Given the description of an element on the screen output the (x, y) to click on. 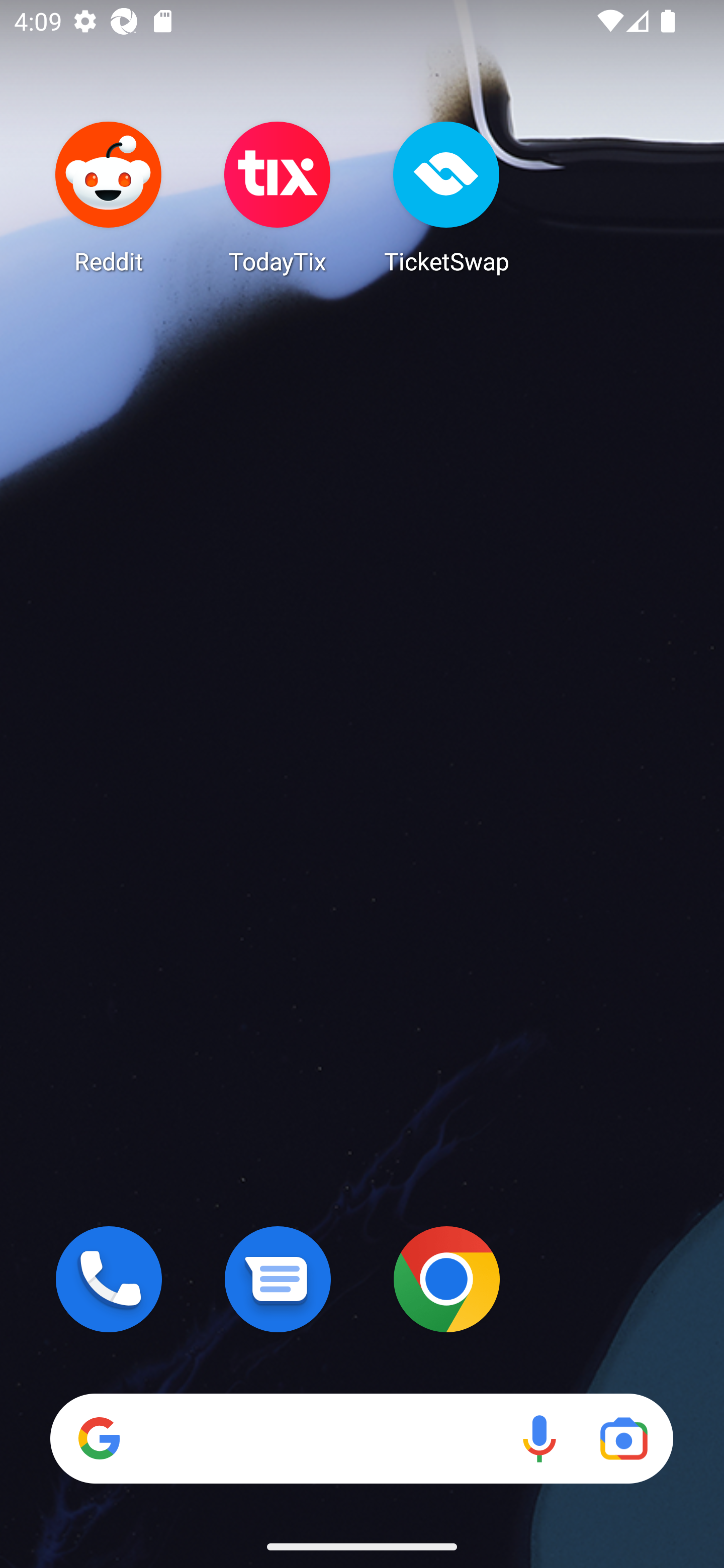
Reddit (108, 196)
TodayTix (277, 196)
TicketSwap (445, 196)
Phone (108, 1279)
Messages (277, 1279)
Chrome (446, 1279)
Voice search (539, 1438)
Google Lens (623, 1438)
